Given the description of an element on the screen output the (x, y) to click on. 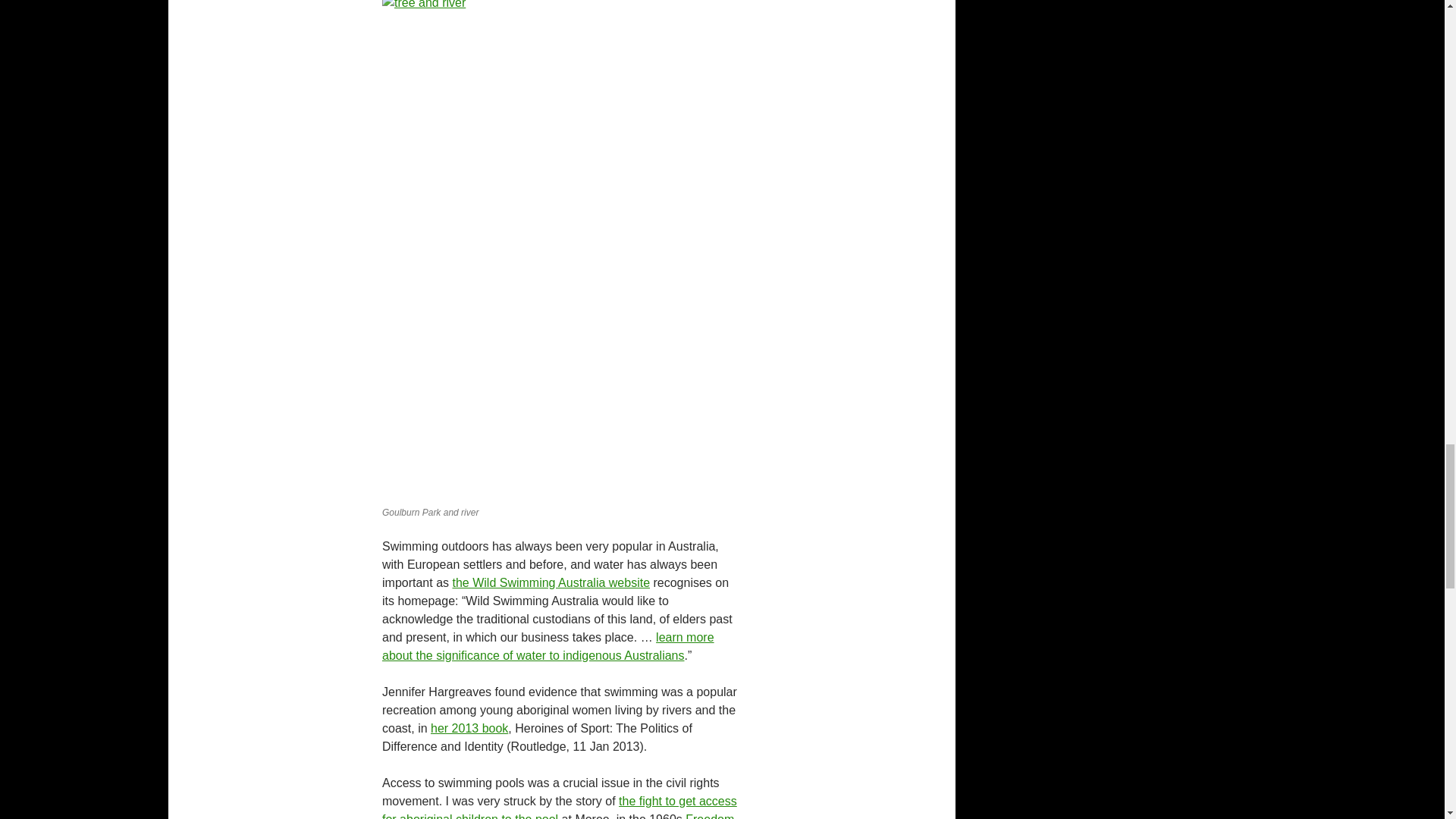
Freedom Ride (557, 816)
the fight to get access for aboriginal children to the pool (558, 806)
the Wild Swimming Australia website (550, 582)
her 2013 book (469, 727)
